Given the description of an element on the screen output the (x, y) to click on. 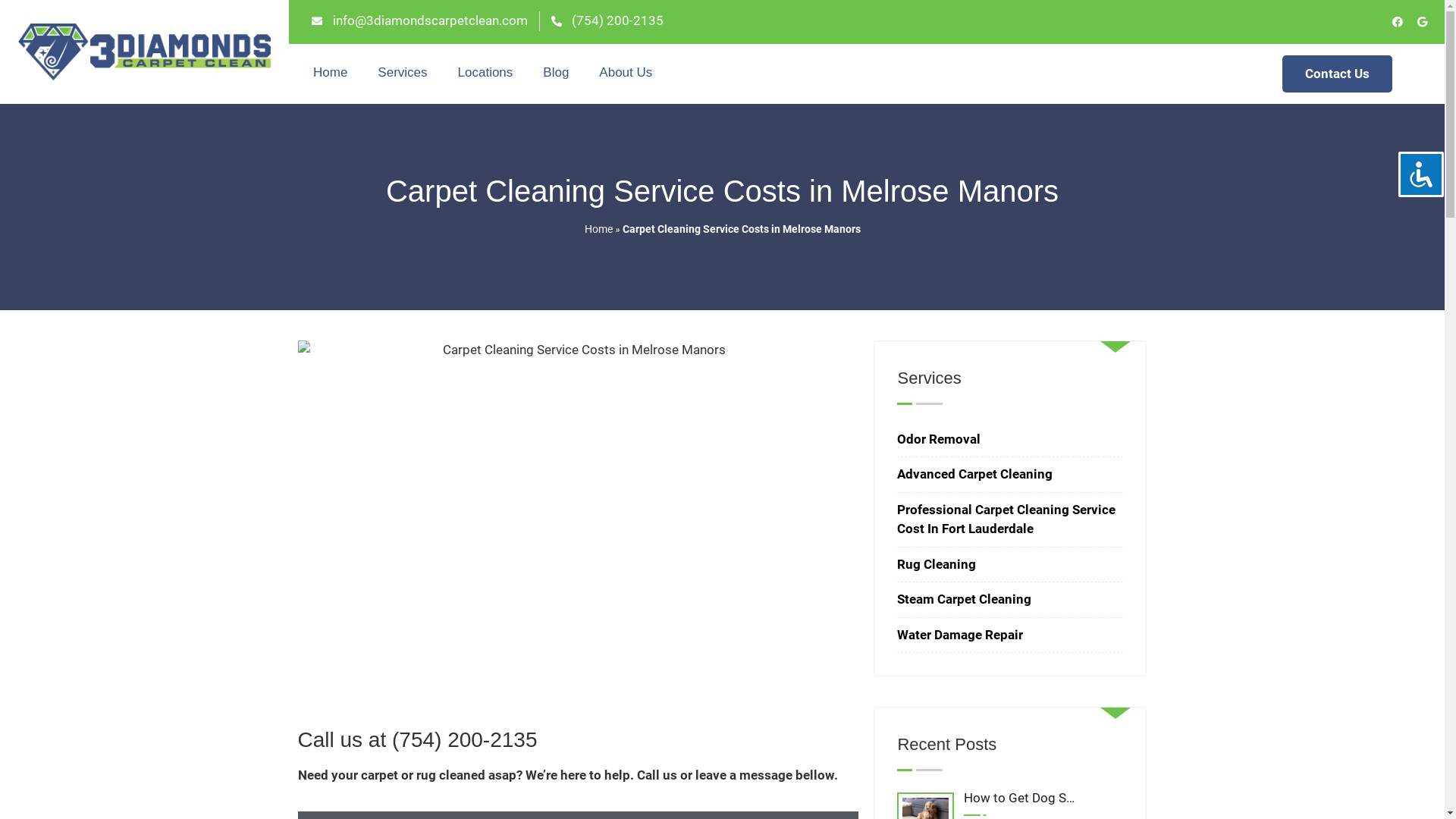
Steam Carpet Cleaning Element type: text (964, 598)
Call us at (754) 200-2135 Element type: text (416, 739)
About Us Element type: text (625, 72)
Contact Us Element type: text (1337, 73)
Odor Removal Element type: text (938, 438)
Professional Carpet Cleaning Service Cost In Fort Lauderdale Element type: text (1006, 519)
Rug Cleaning Element type: text (936, 563)
How to Get Dog Smell Out of Your Carpet Element type: text (1010, 801)
(754) 200-2135 Element type: text (606, 21)
Home Element type: text (330, 72)
info@3diamondscarpetclean.com Element type: text (419, 21)
Water Damage Repair Element type: text (959, 634)
Services Element type: text (402, 72)
Advanced Carpet Cleaning Element type: text (974, 473)
Home Element type: text (597, 228)
Locations Element type: text (485, 72)
Blog Element type: text (555, 72)
